Given the description of an element on the screen output the (x, y) to click on. 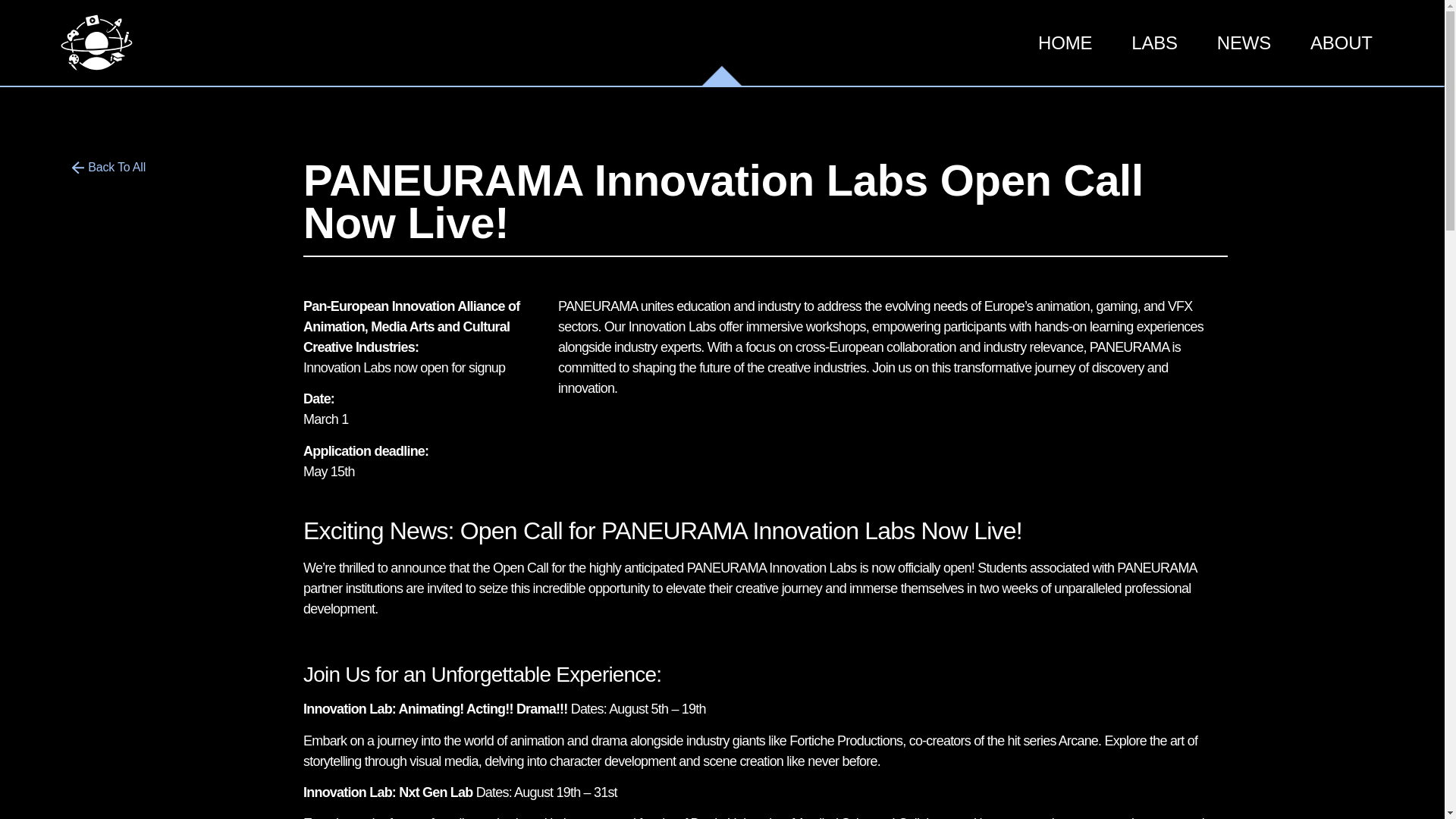
NEWS (1244, 42)
ABOUT (1341, 42)
Back To All (108, 168)
LABS (1154, 42)
HOME (1065, 42)
